Given the description of an element on the screen output the (x, y) to click on. 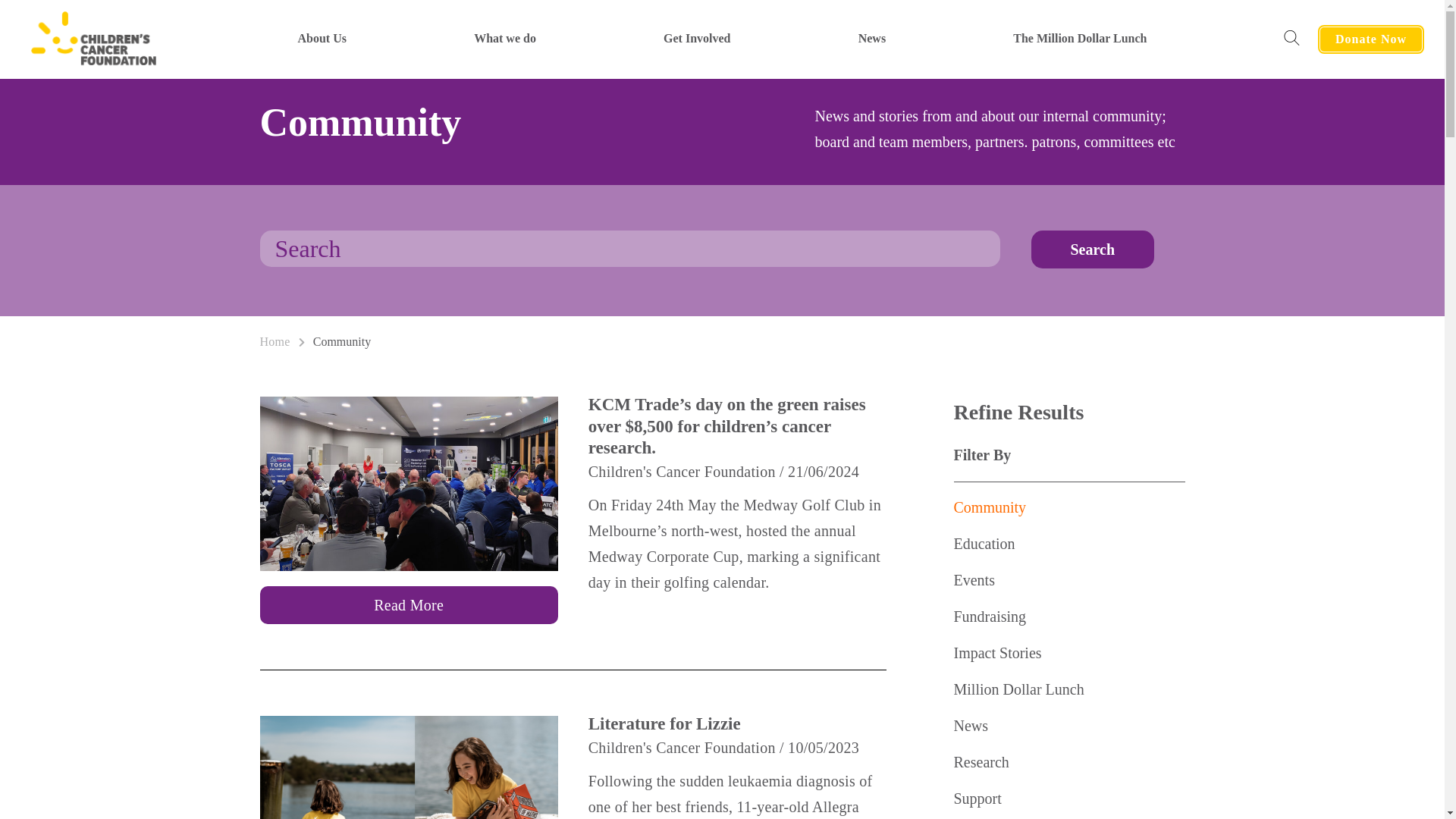
Search (1092, 249)
Search (1092, 249)
